Given the description of an element on the screen output the (x, y) to click on. 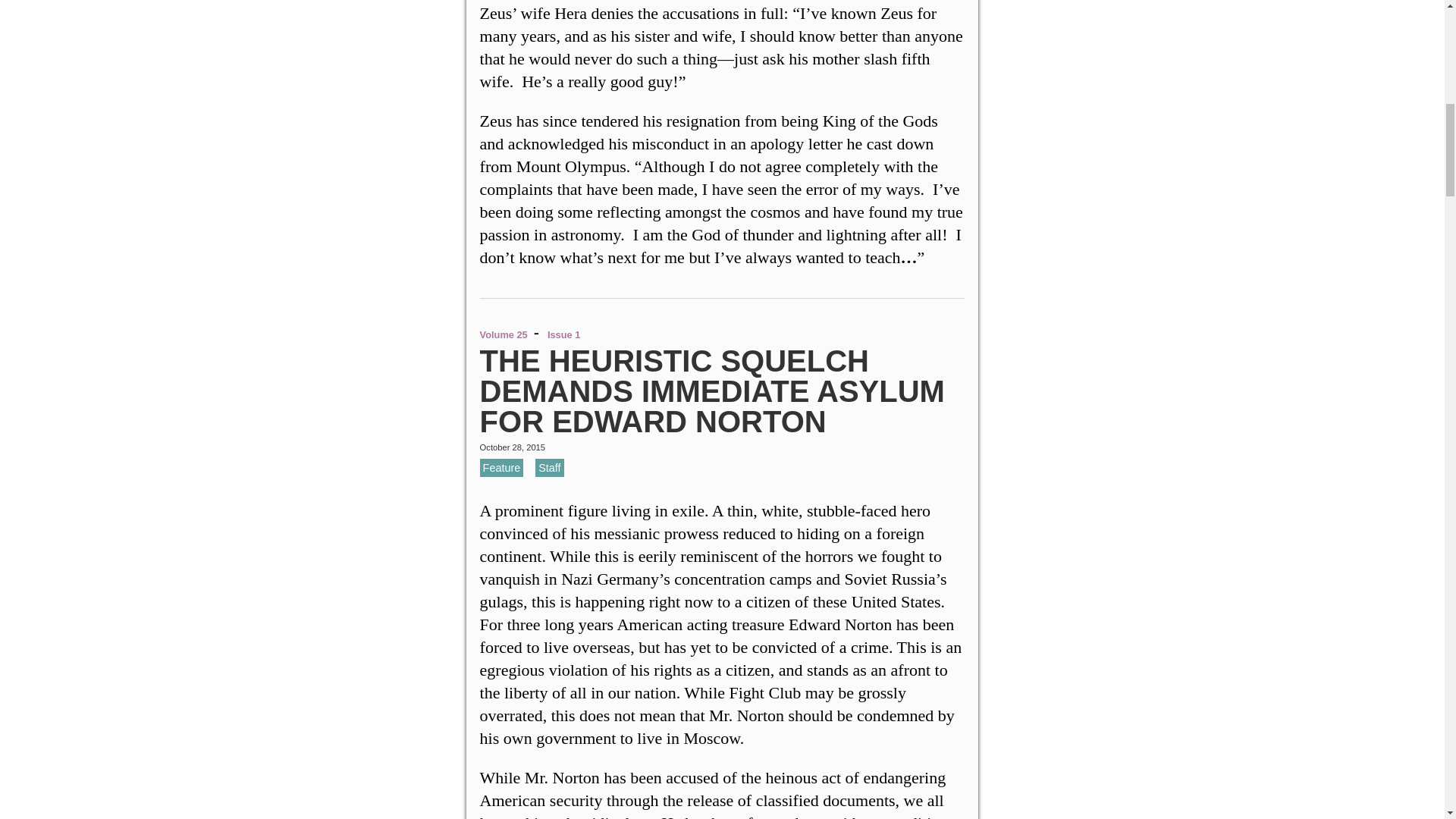
Staff (549, 467)
Issue 1 (563, 334)
Volume 25 (503, 334)
Feature (502, 467)
